Given the description of an element on the screen output the (x, y) to click on. 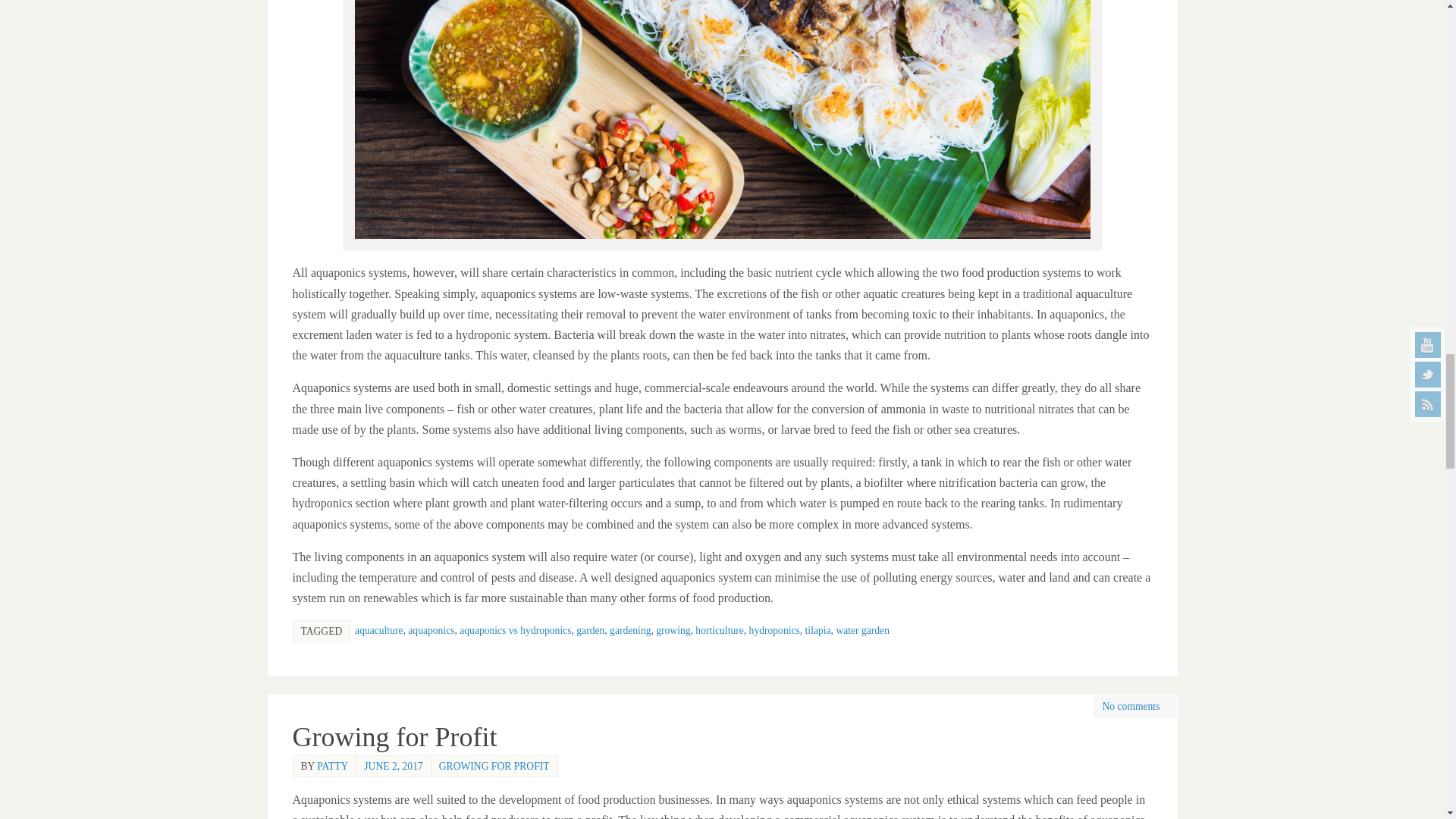
aquaculture (379, 630)
Permalink to Growing for Profit (394, 736)
aquaponics (430, 630)
View all posts by Patty (332, 766)
